Given the description of an element on the screen output the (x, y) to click on. 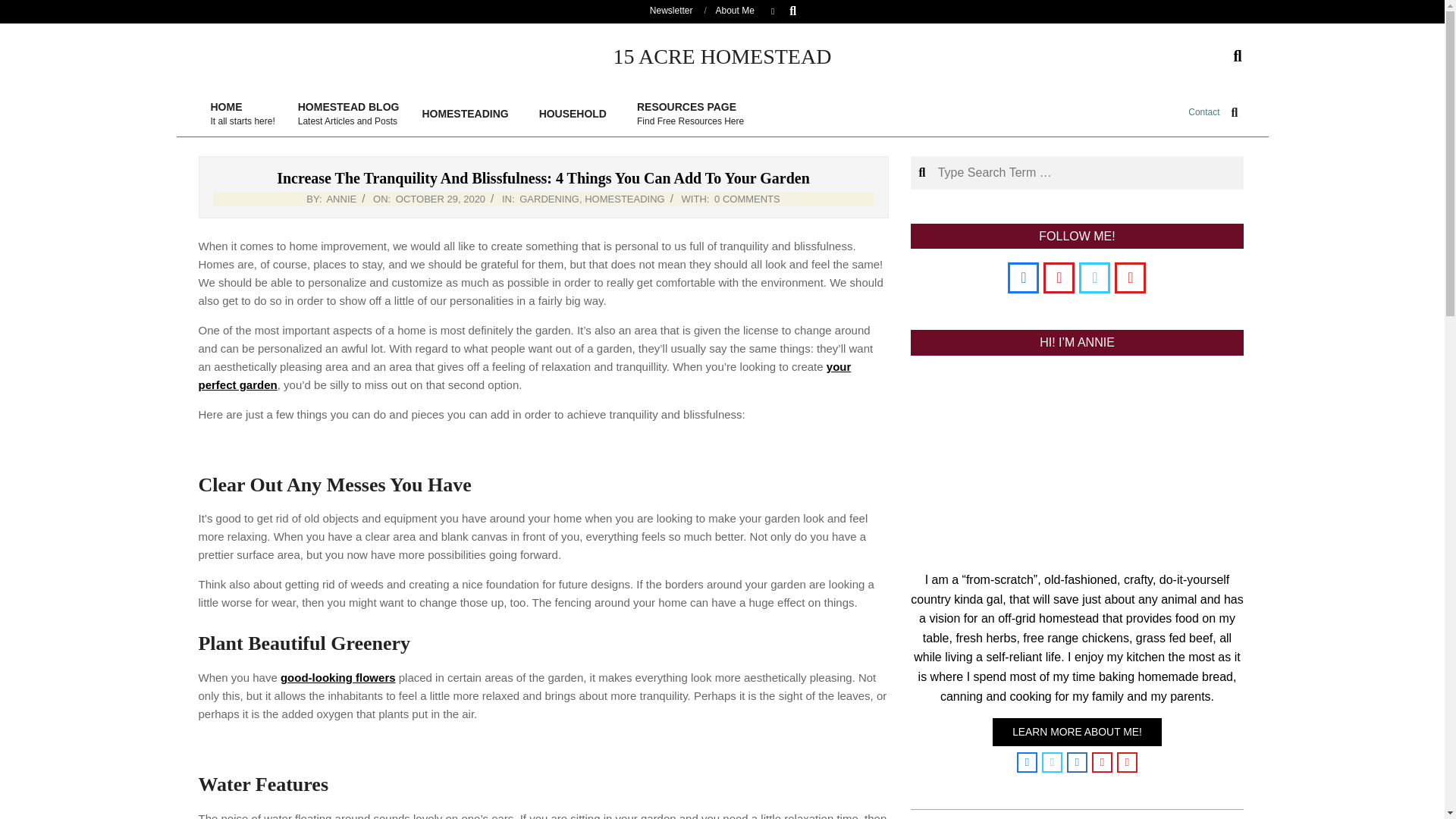
Thursday, October 29, 2020, 7:21 am (440, 198)
good-looking flowers (338, 676)
Newsletter (671, 9)
your perfect garden (241, 113)
HOUSEHOLD (524, 375)
About Me (576, 113)
GARDENING (735, 9)
Search (348, 113)
